Given the description of an element on the screen output the (x, y) to click on. 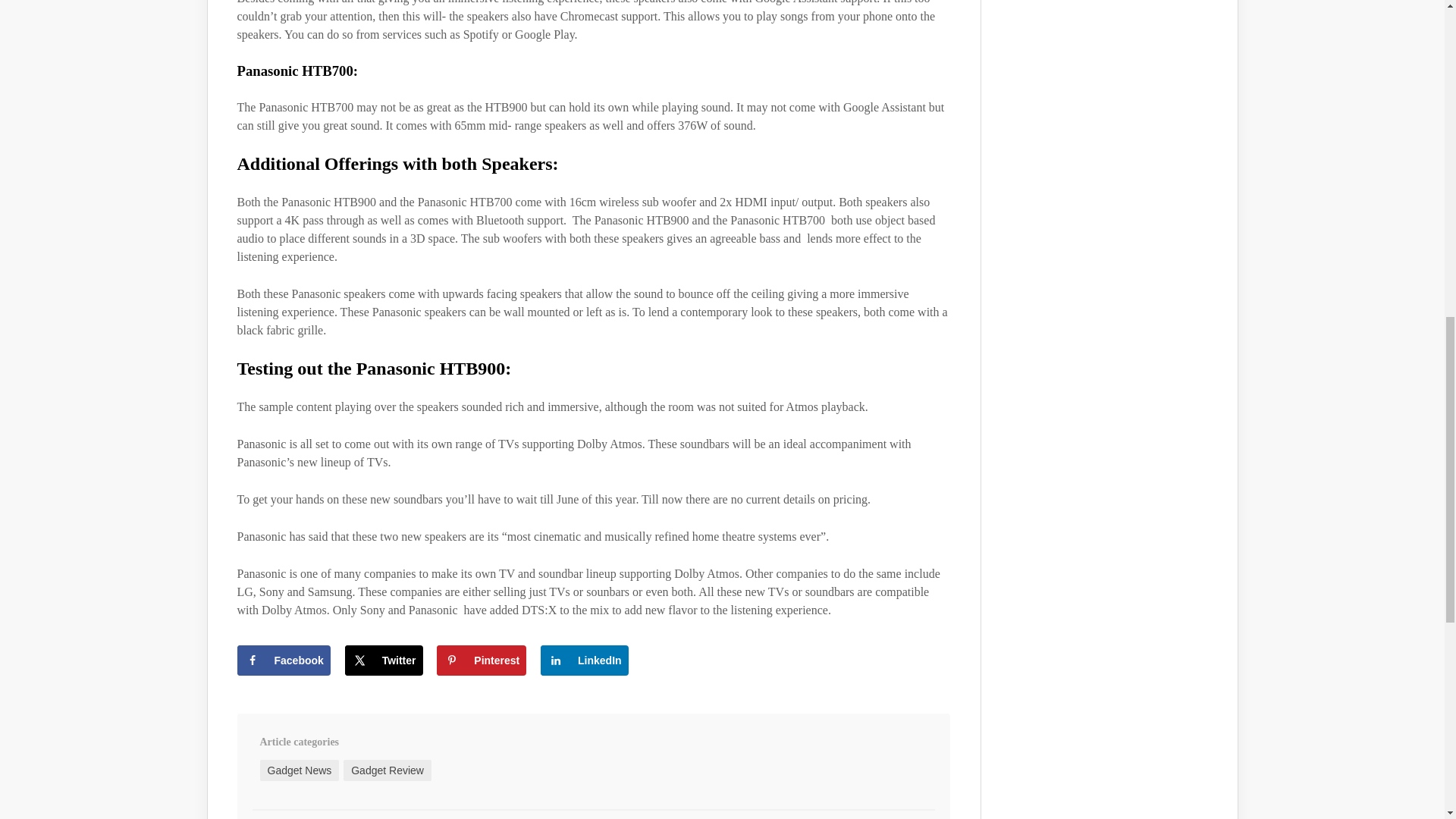
Share on Facebook (282, 660)
Share on LinkedIn (584, 660)
Save to Pinterest (480, 660)
Share on X (384, 660)
